Given the description of an element on the screen output the (x, y) to click on. 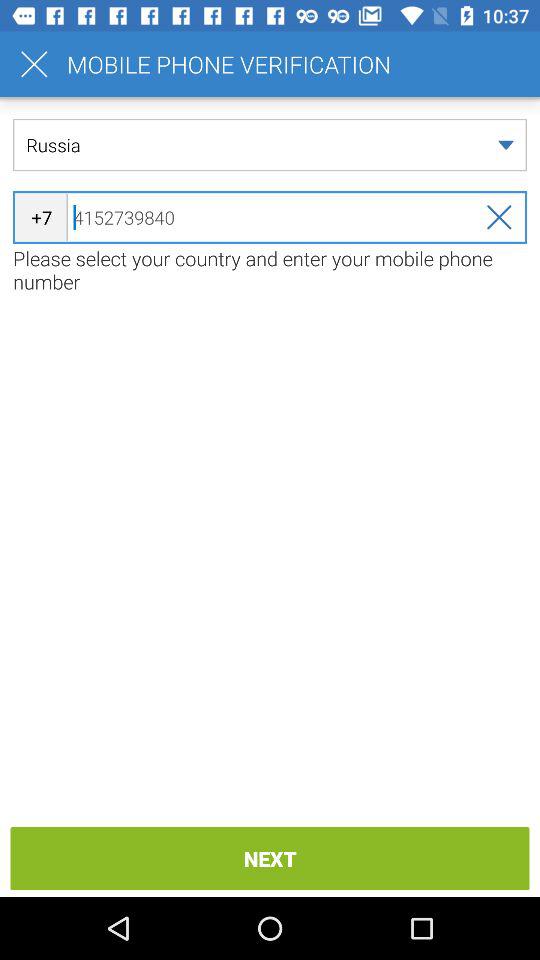
choose russia icon (269, 144)
